Given the description of an element on the screen output the (x, y) to click on. 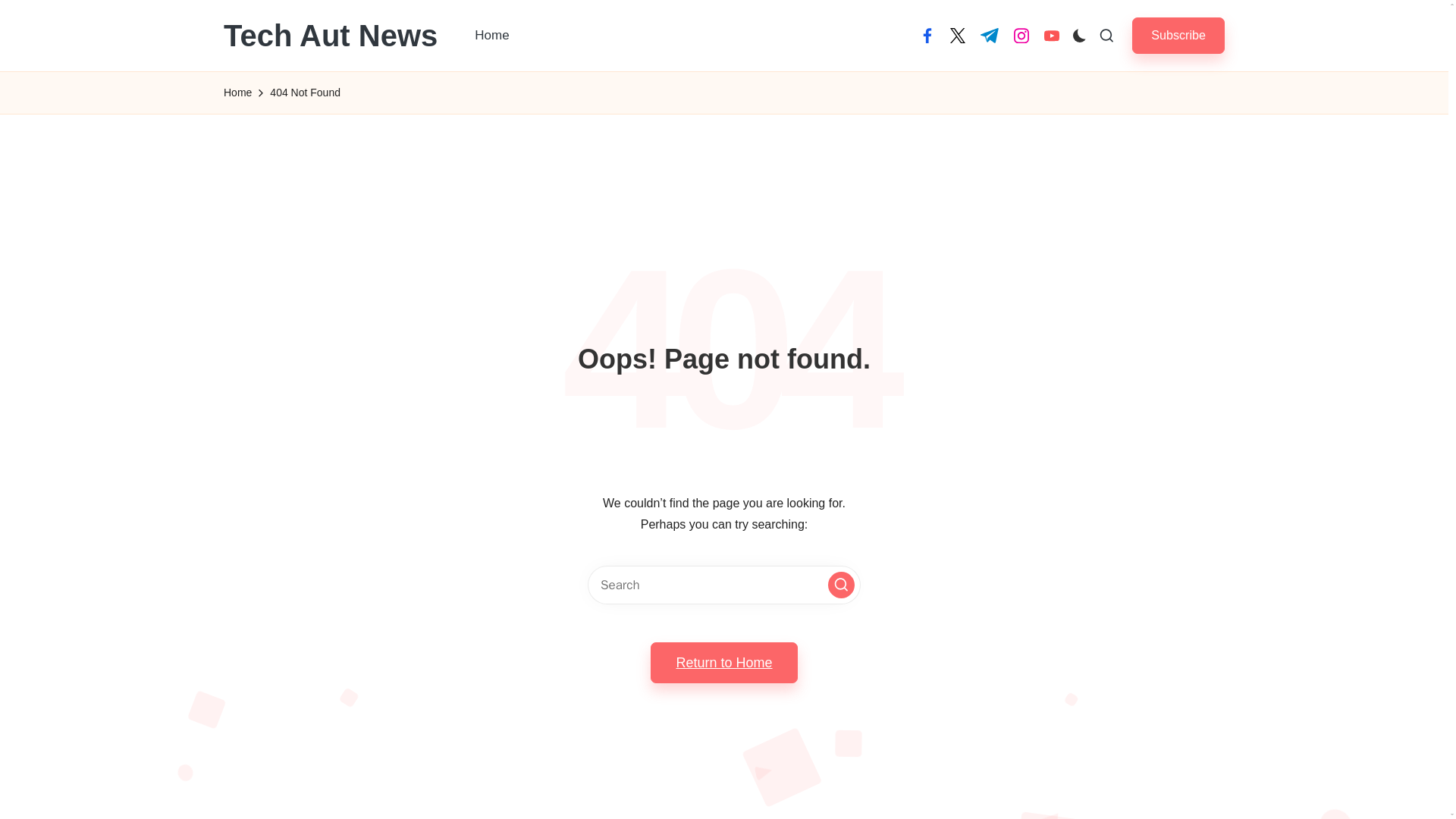
facebook.com (927, 35)
Subscribe (1178, 35)
twitter.com (957, 35)
Tech Aut News (331, 35)
Home (491, 35)
instagram.com (1020, 35)
youtube.com (1051, 35)
Home (237, 92)
Return to Home (723, 662)
t.me (989, 35)
